Given the description of an element on the screen output the (x, y) to click on. 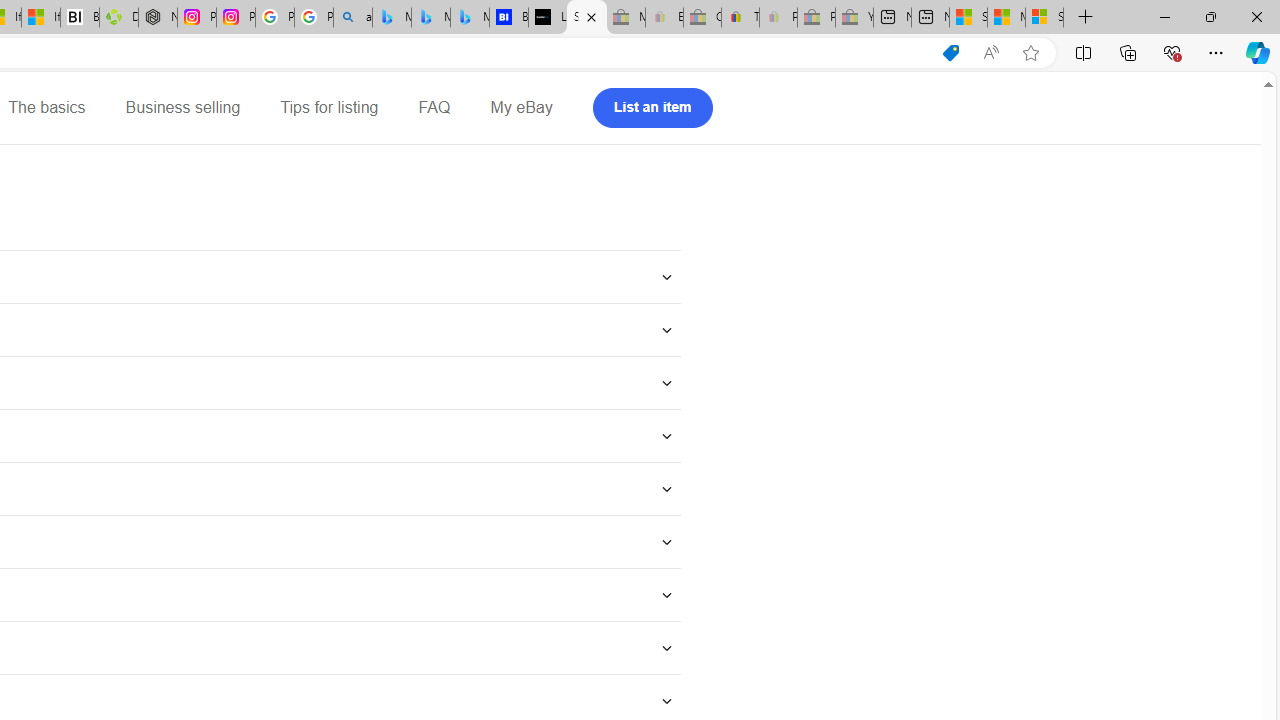
Business selling (182, 107)
Microsoft Bing Travel - Shangri-La Hotel Bangkok (469, 17)
Yard, Garden & Outdoor Living - Sleeping (853, 17)
FAQ (434, 107)
Press Room - eBay Inc. - Sleeping (815, 17)
Selling on eBay | Electronics, Fashion, Home & Garden | eBay (586, 17)
List an item (651, 107)
Descarga Driver Updater (118, 17)
alabama high school quarterback dies - Search (353, 17)
This site has coupons! Shopping in Microsoft Edge (950, 53)
